Given the description of an element on the screen output the (x, y) to click on. 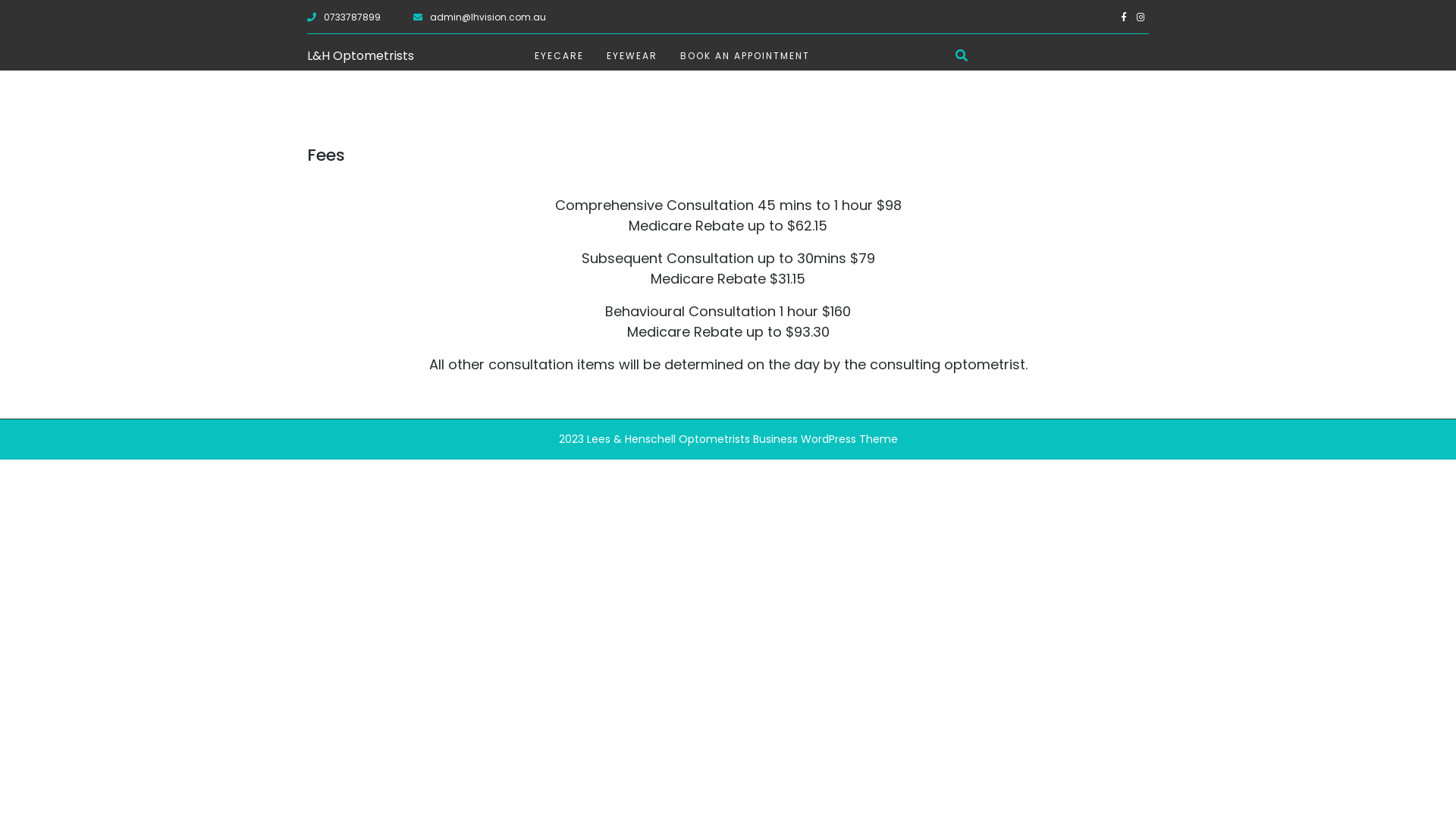
Business WordPress Theme Element type: text (823, 438)
BOOK AN APPOINTMENT Element type: text (744, 55)
EYECARE Element type: text (559, 55)
EYEWEAR Element type: text (631, 55)
